Given the description of an element on the screen output the (x, y) to click on. 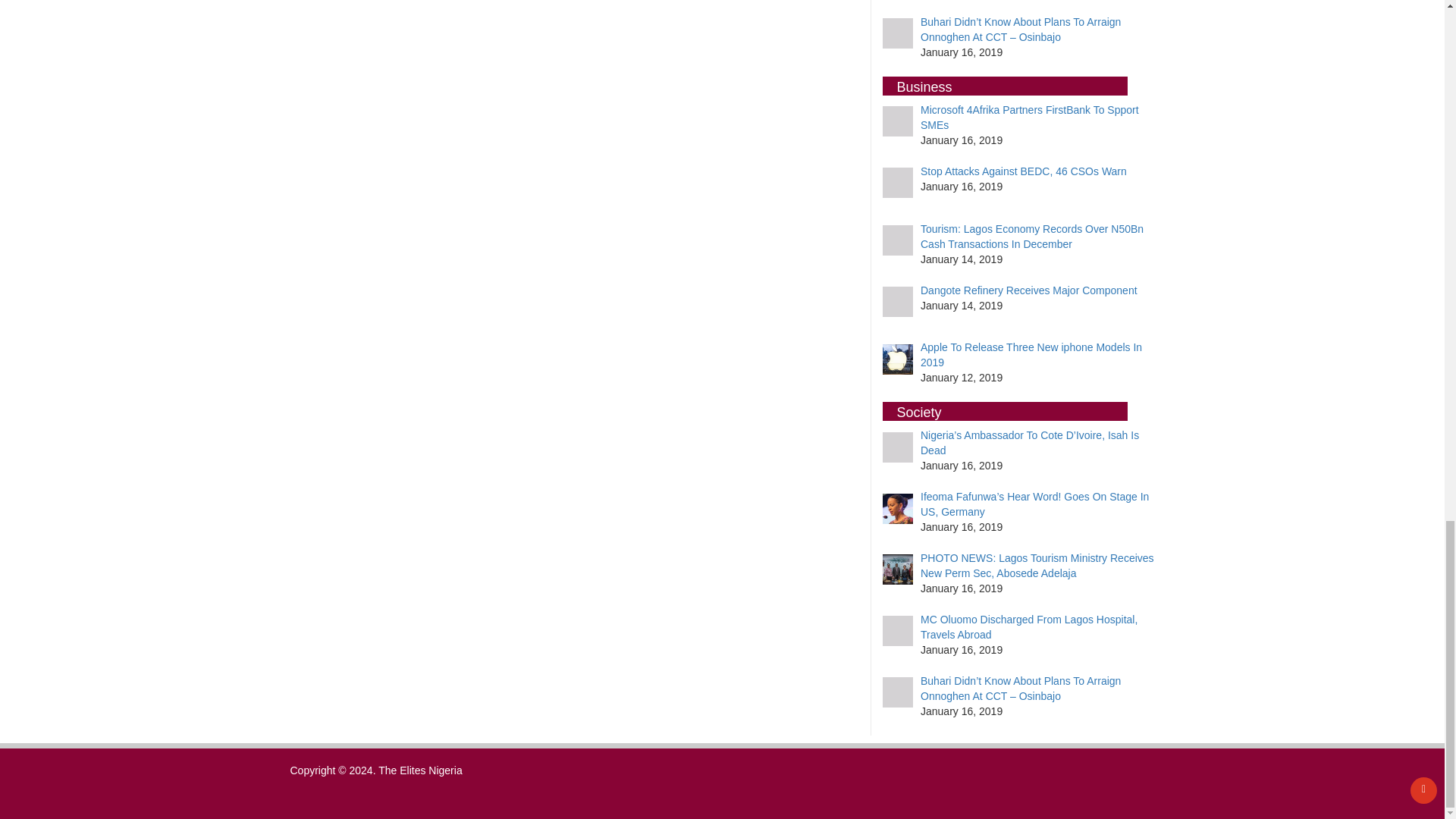
Stop Attacks Against BEDC, 46 CSOs Warn (1023, 171)
Apple To Release Three New iphone Models In 2019 (1030, 354)
Dangote Refinery Receives Major Component (1028, 290)
Microsoft 4Afrika Partners FirstBank To Spport SMEs (1029, 117)
MC Oluomo Discharged From Lagos Hospital, Travels Abroad (1028, 626)
